Given the description of an element on the screen output the (x, y) to click on. 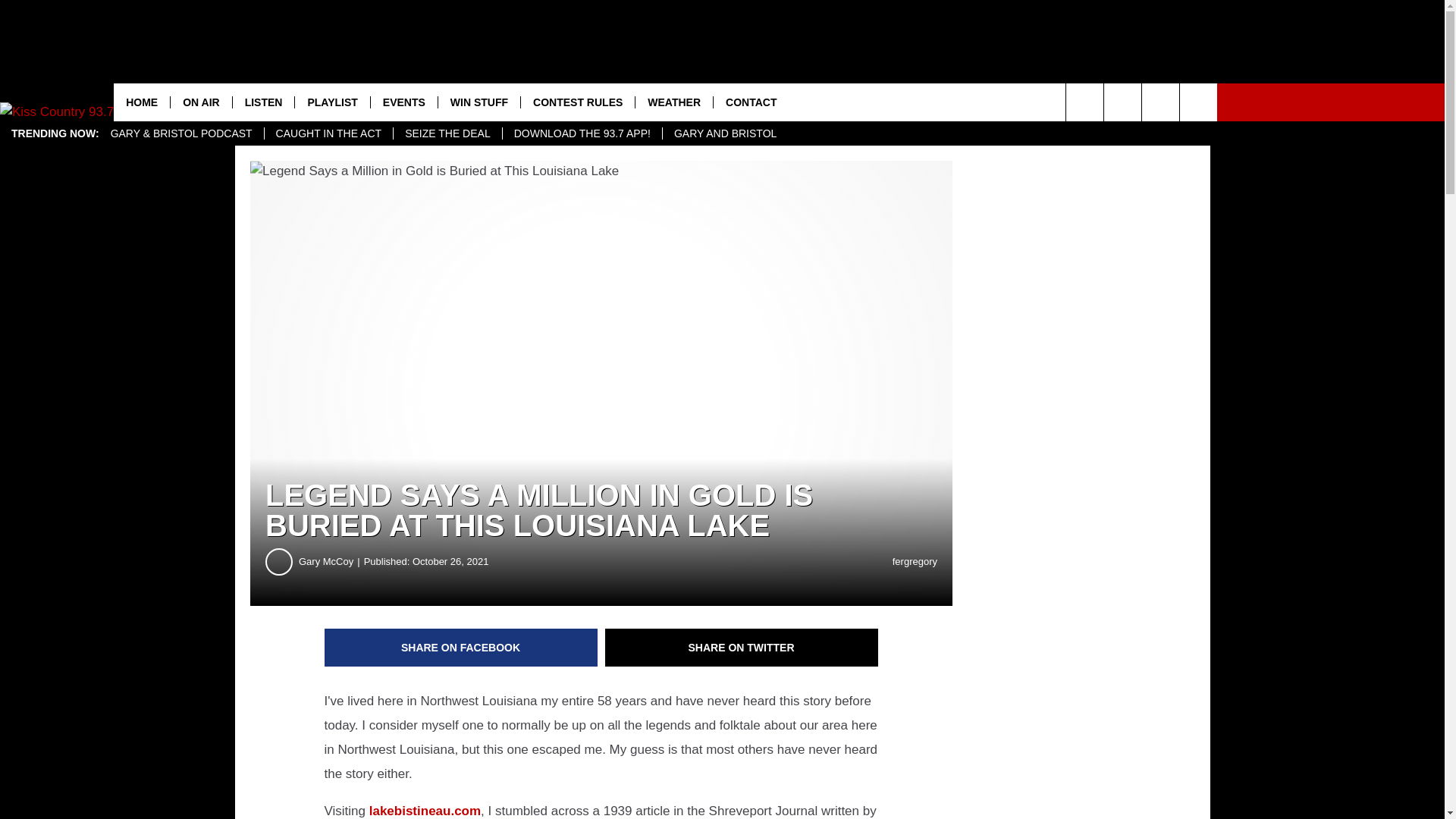
ON AIR (200, 102)
DOWNLOAD THE 93.7 APP! (582, 133)
PLAYLIST (331, 102)
CONTEST RULES (576, 102)
CAUGHT IN THE ACT (328, 133)
GARY AND BRISTOL (724, 133)
SEIZE THE DEAL (447, 133)
WEATHER (673, 102)
Share on Facebook (460, 647)
LISTEN (263, 102)
HOME (141, 102)
EVENTS (403, 102)
CONTACT (751, 102)
WIN STUFF (478, 102)
Share on Twitter (741, 647)
